Given the description of an element on the screen output the (x, y) to click on. 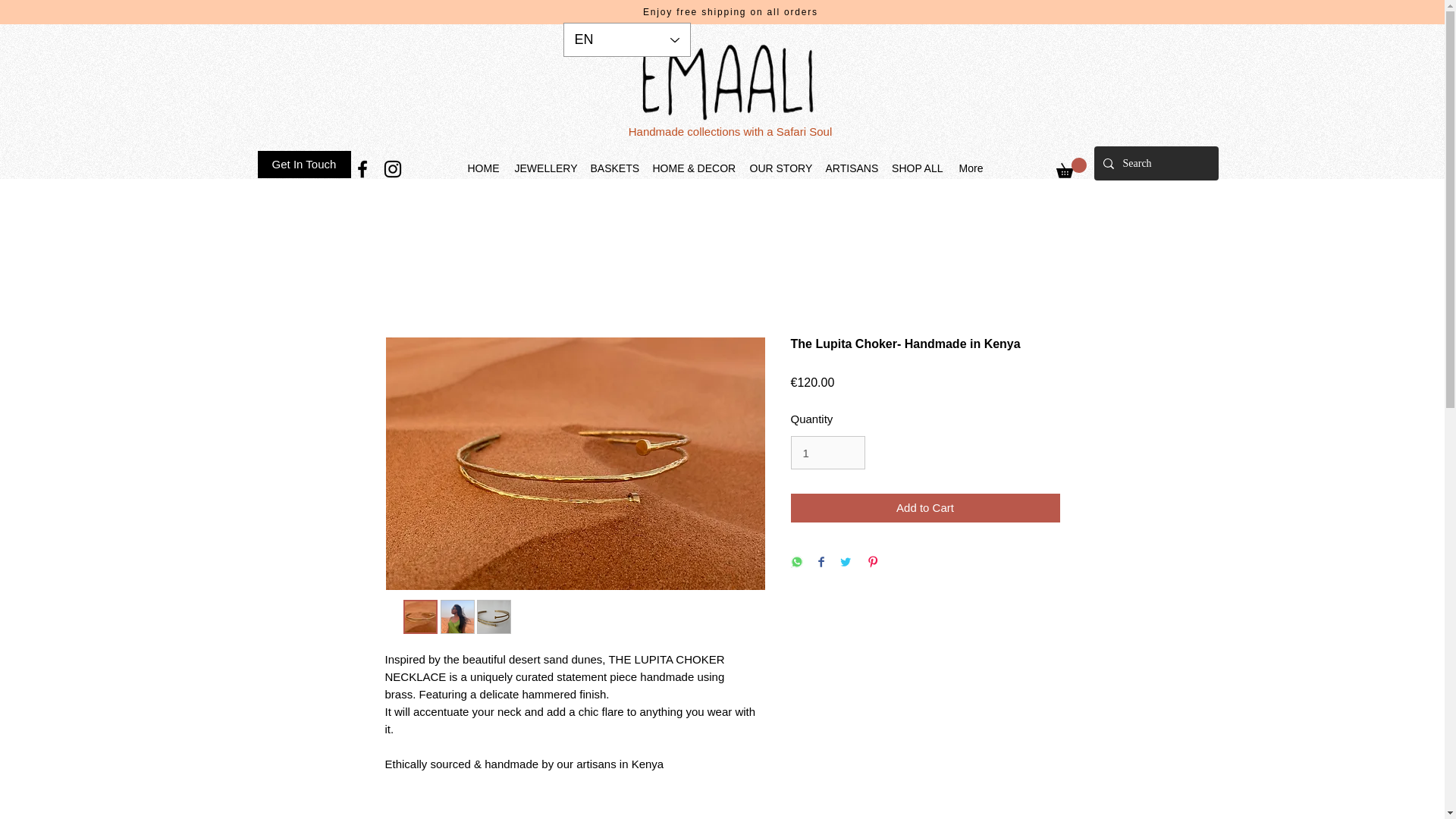
1 (827, 452)
OUR STORY (778, 168)
Add to Cart (924, 508)
HOME (483, 168)
BASKETS (613, 168)
SHOP ALL (916, 168)
Get In Touch (303, 164)
ARTISANS (849, 168)
JEWELLERY (544, 168)
